Given the description of an element on the screen output the (x, y) to click on. 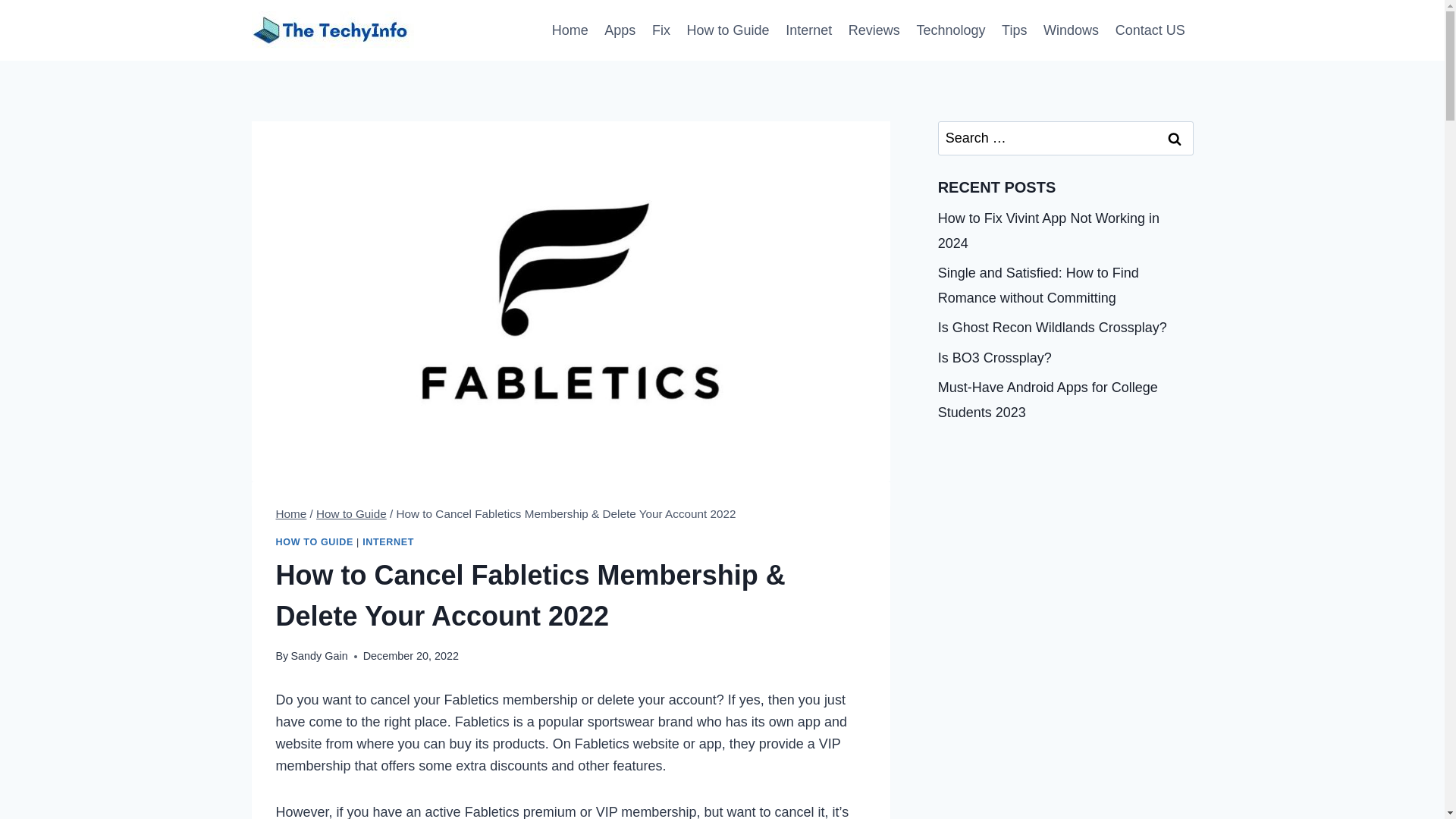
HOW TO GUIDE (314, 542)
Technology (951, 30)
Search (1174, 138)
INTERNET (387, 542)
Contact US (1149, 30)
Home (569, 30)
Sandy Gain (318, 655)
Windows (1070, 30)
Search (1174, 138)
Home (291, 513)
Fix (660, 30)
Tips (1013, 30)
How to Guide (727, 30)
How to Guide (351, 513)
Internet (808, 30)
